Given the description of an element on the screen output the (x, y) to click on. 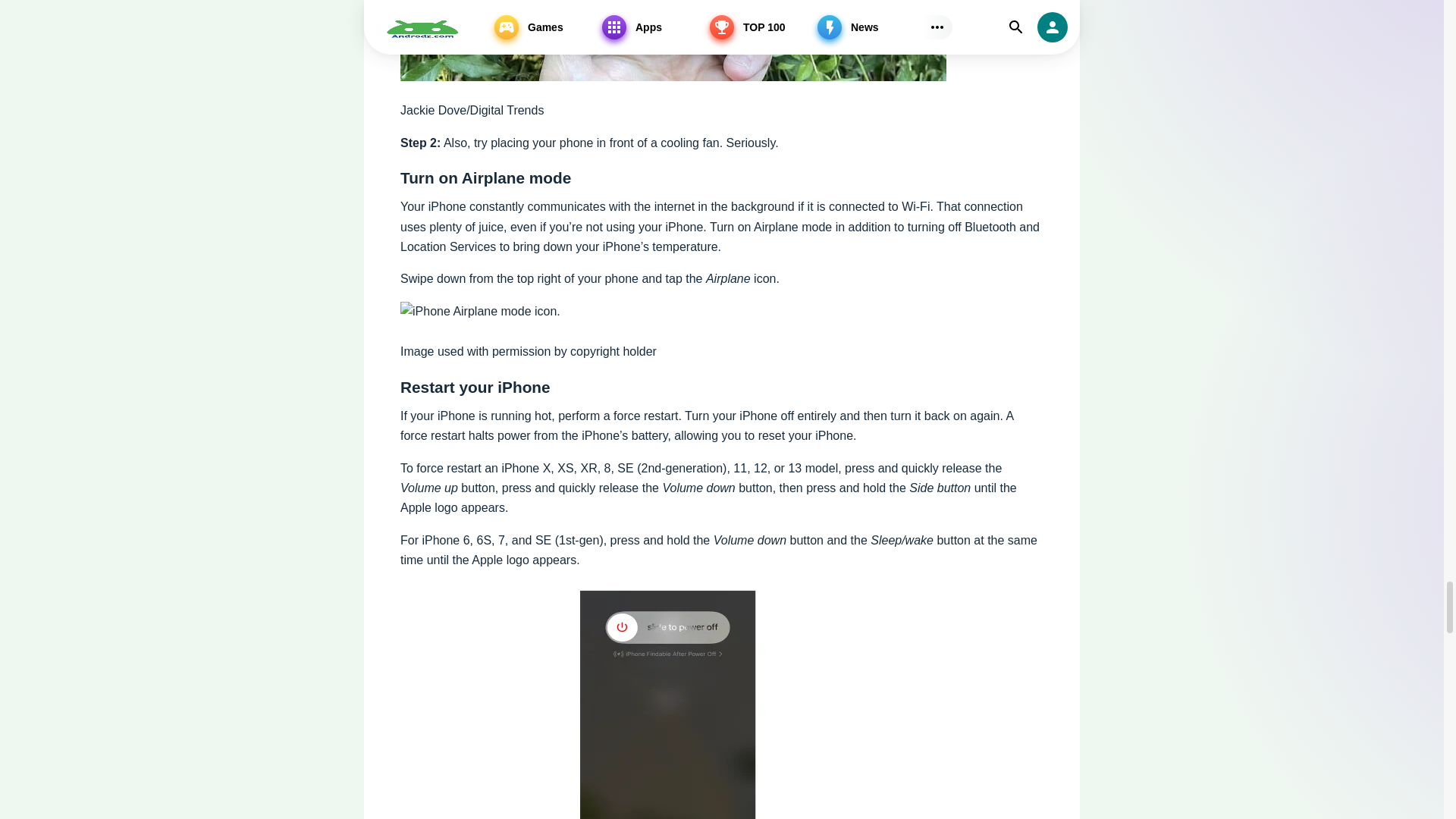
iPhone Overheating? 10 Things to Try Before Calling Apple 14 (480, 311)
iPhone Overheating? 10 Things to Try Before Calling Apple 13 (673, 40)
iPhone Overheating? 10 Things to Try Before Calling Apple 15 (673, 701)
